Given the description of an element on the screen output the (x, y) to click on. 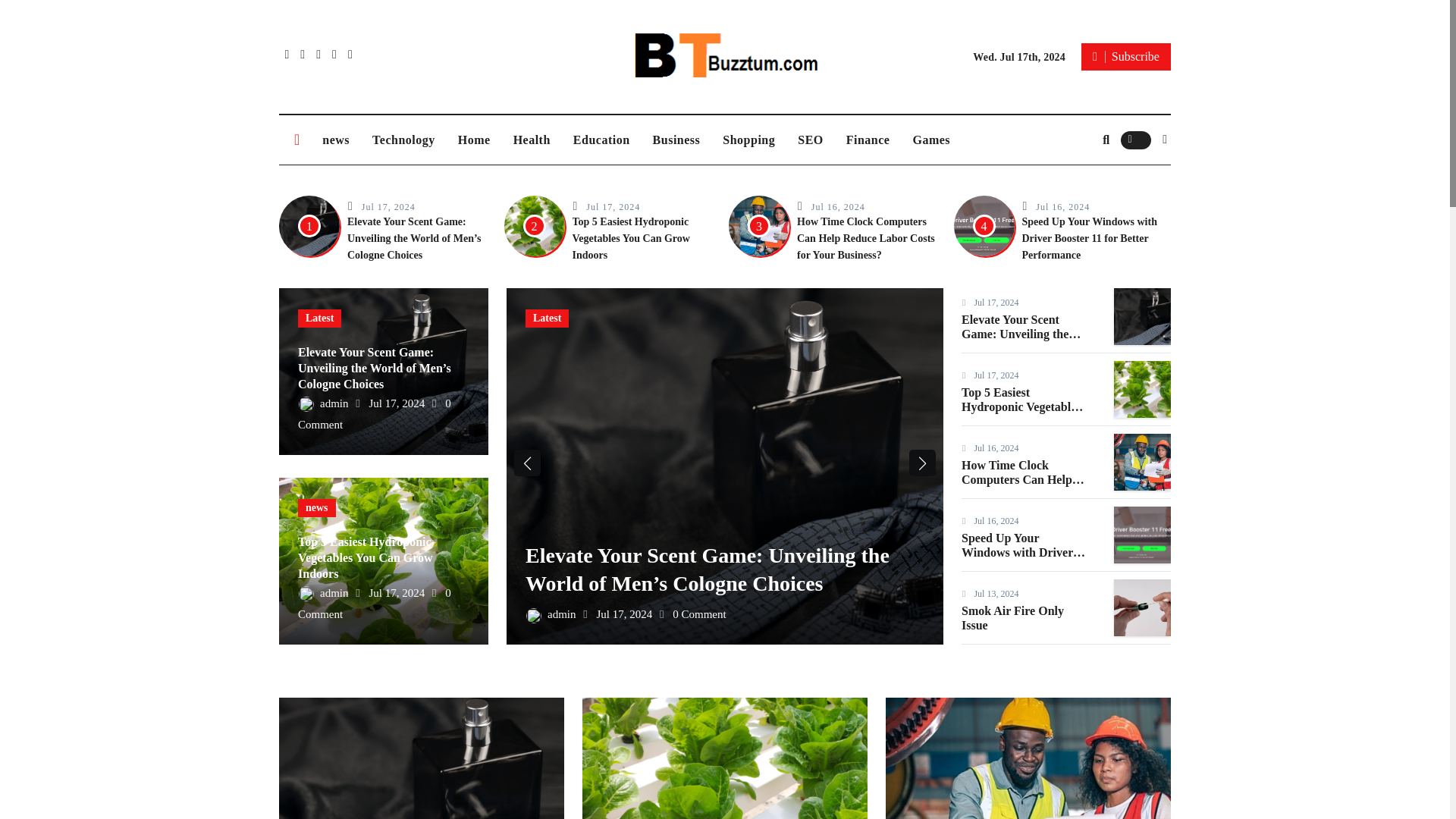
Education (602, 139)
Technology (403, 139)
Education (602, 139)
Health (532, 139)
Subscribe (1125, 56)
Health (532, 139)
Jul 16, 2024 (837, 206)
Finance (867, 139)
SEO (810, 139)
Home (474, 139)
news (336, 139)
Jul 16, 2024 (1062, 206)
news (336, 139)
SEO (810, 139)
